Given the description of an element on the screen output the (x, y) to click on. 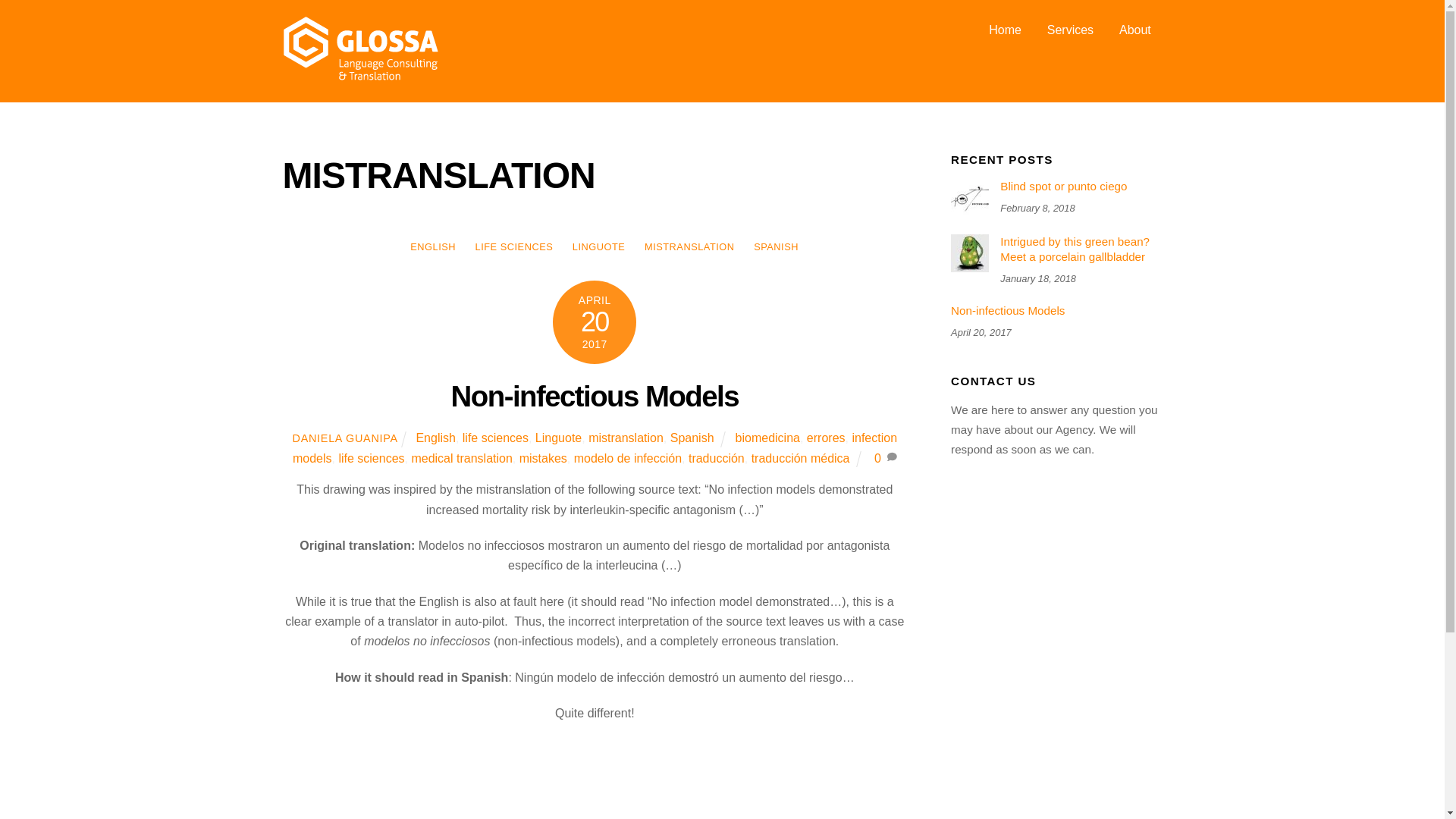
Spanish (691, 437)
life sciences (495, 437)
Green Bean (969, 252)
biomedicina (767, 437)
punto-ciego (969, 198)
Linguote (557, 437)
medical translation (461, 458)
MISTRANSLATION (689, 247)
English (434, 437)
LIFE SCIENCES (513, 247)
Non-infectious Models (594, 396)
SPANISH (776, 247)
errores (825, 437)
Blind spot or punto ciego (1055, 186)
life sciences (370, 458)
